Given the description of an element on the screen output the (x, y) to click on. 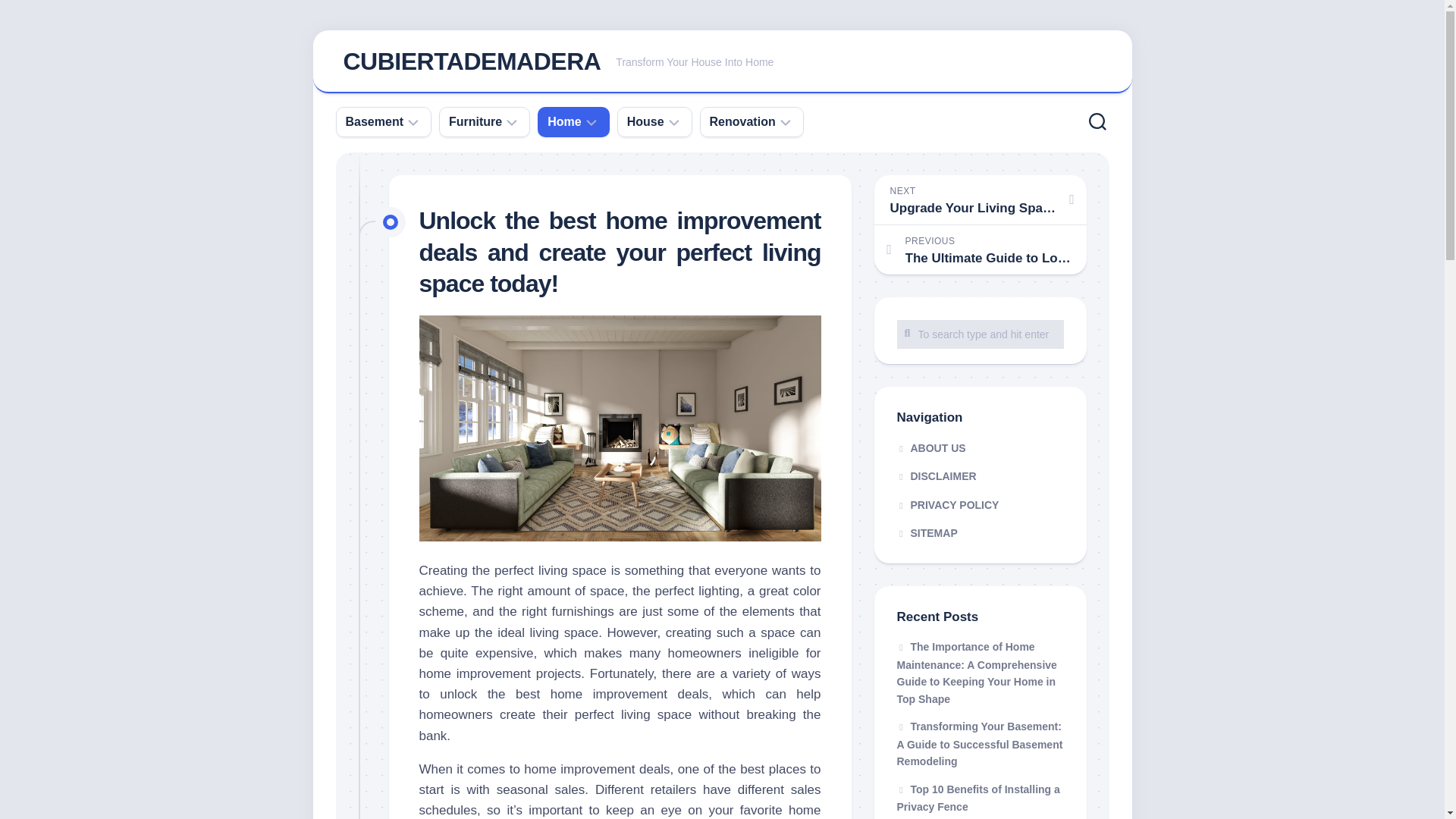
House (645, 121)
Basement (374, 121)
To search type and hit enter (722, 62)
Home (979, 334)
Renovation (563, 121)
CUBIERTADEMADERA (743, 121)
To search type and hit enter (470, 61)
Furniture (979, 334)
